Given the description of an element on the screen output the (x, y) to click on. 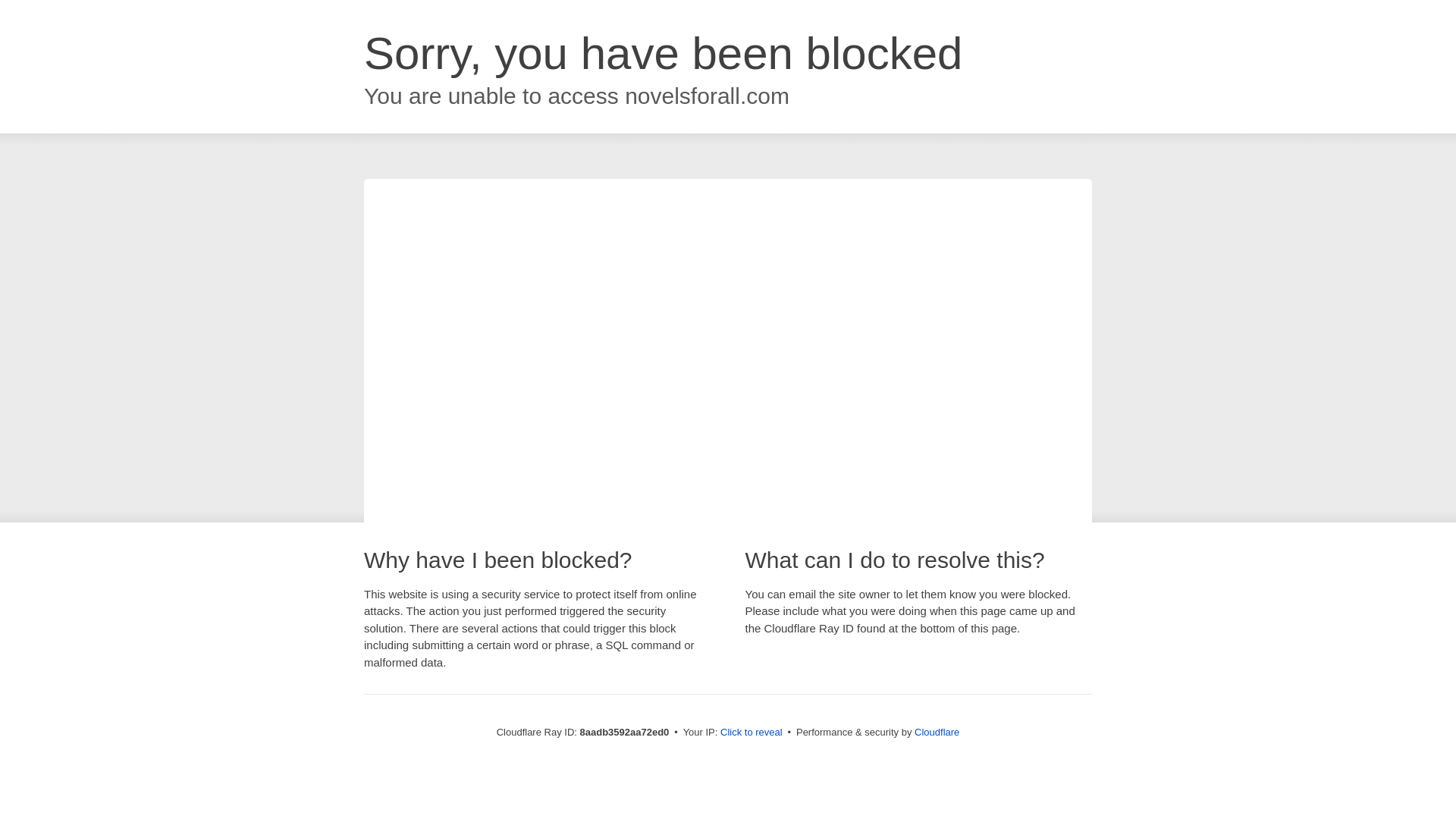
Cloudflare (936, 731)
Click to reveal (751, 732)
